Given the description of an element on the screen output the (x, y) to click on. 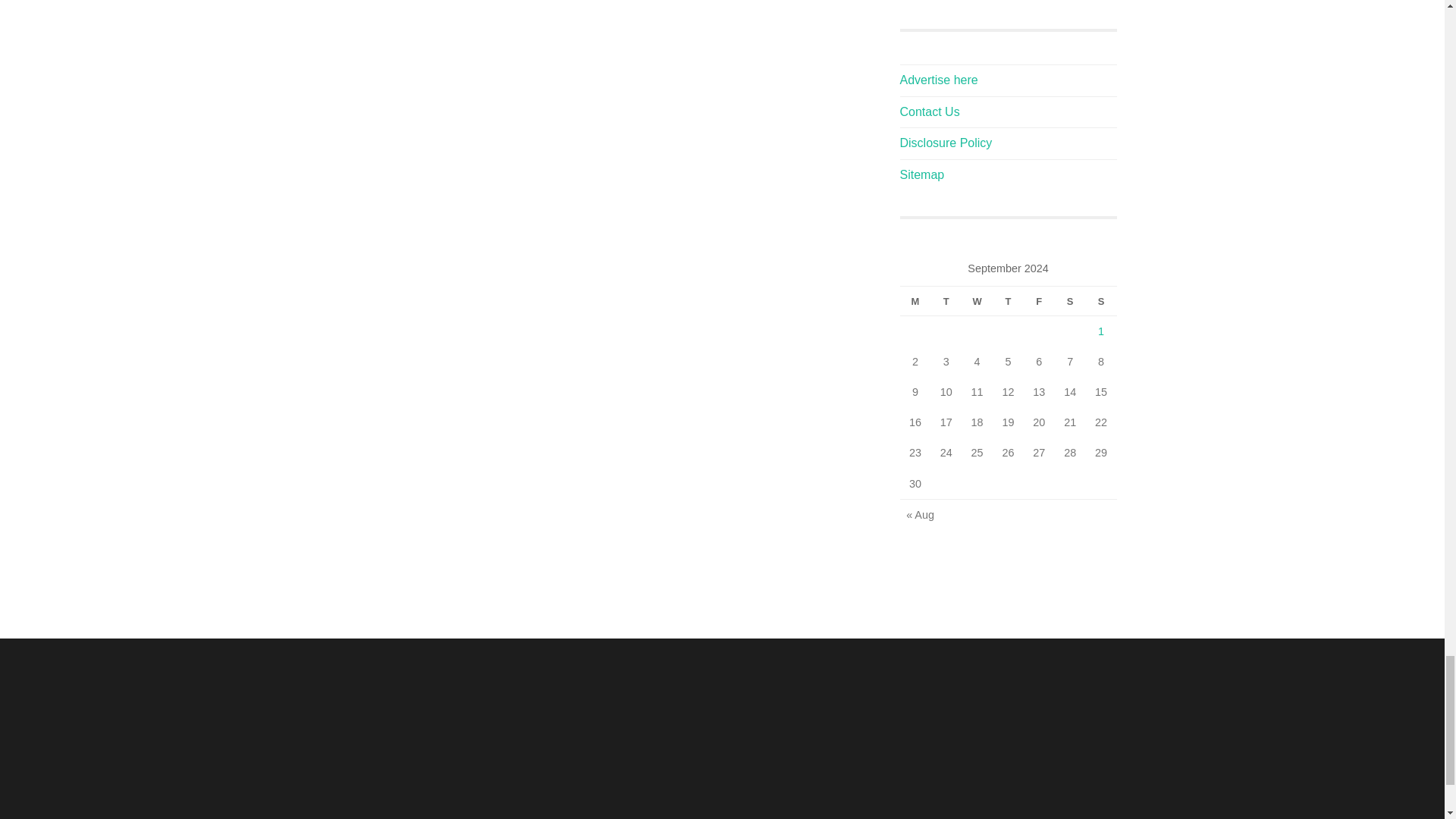
Wednesday (976, 301)
Friday (1038, 301)
Saturday (1070, 301)
Sunday (1101, 301)
Tuesday (945, 301)
Monday (914, 301)
Thursday (1007, 301)
